Given the description of an element on the screen output the (x, y) to click on. 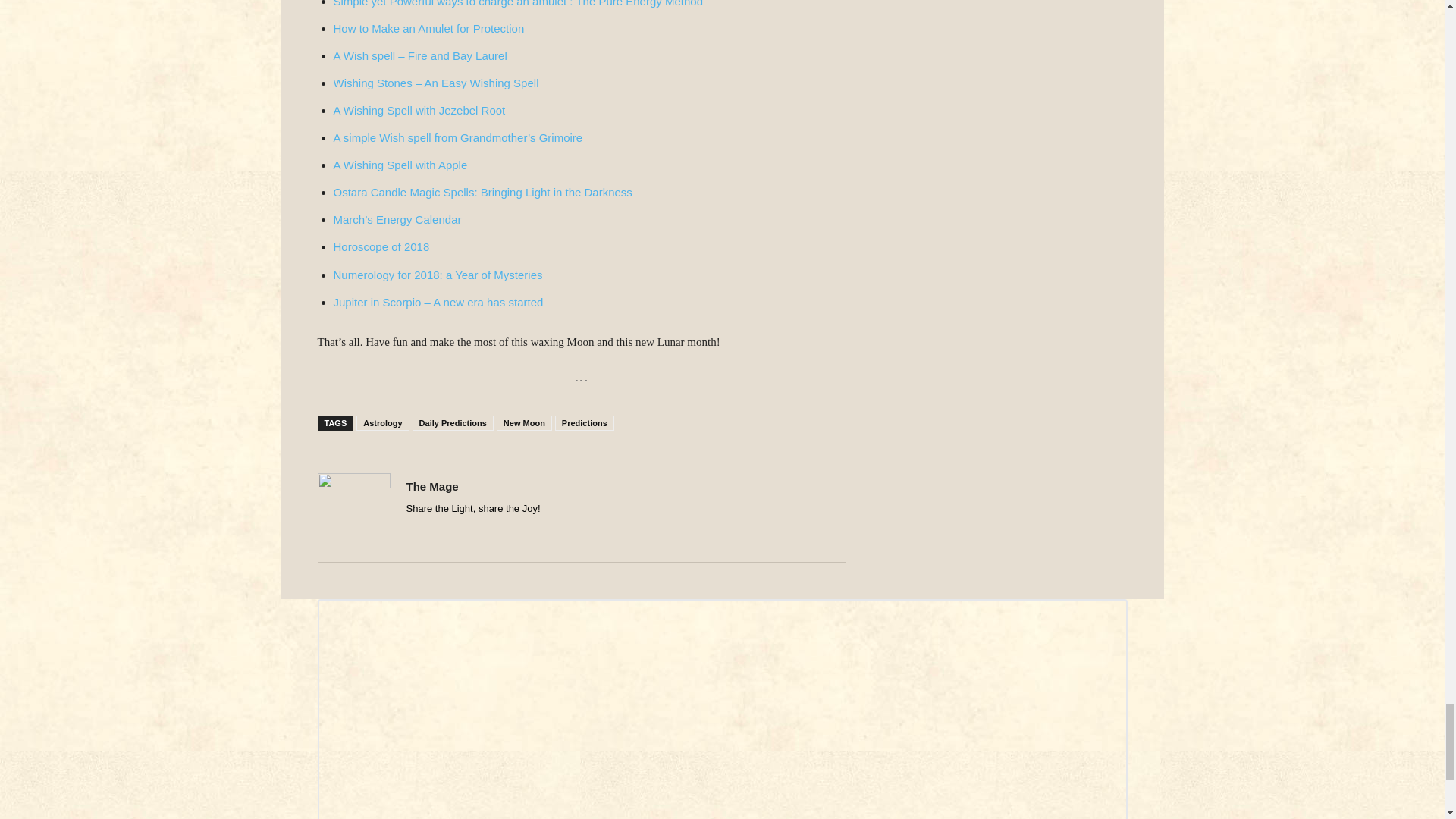
Ostara Candle Magic Spells: Bringing Light in the Darkness (482, 192)
How to Make an Amulet for Protection (428, 28)
A Wishing Spell with Jezebel Root (419, 110)
A Wishing Spell with Apple (400, 164)
